Given the description of an element on the screen output the (x, y) to click on. 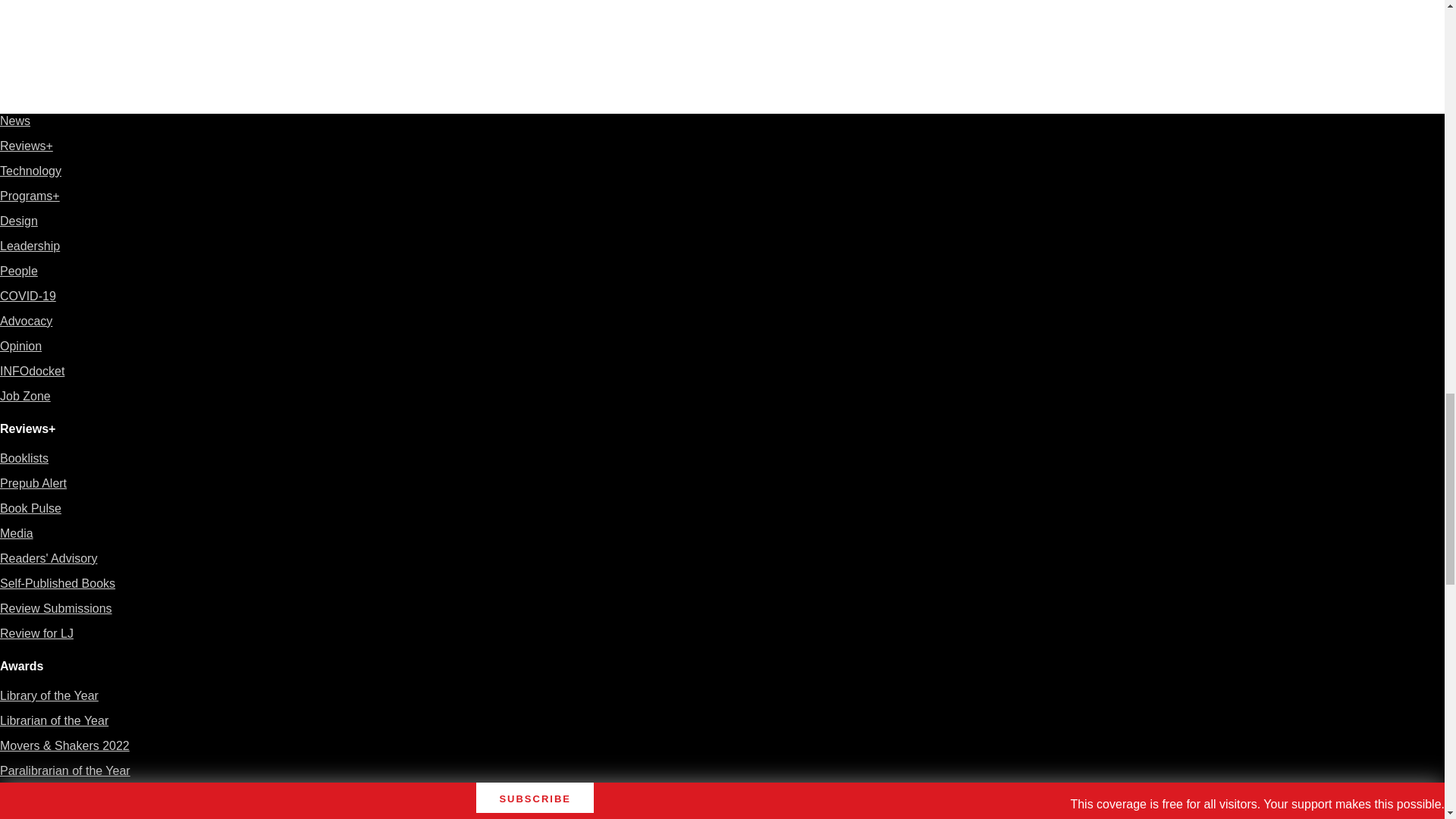
3rd party ad content (1106, 8)
